Given the description of an element on the screen output the (x, y) to click on. 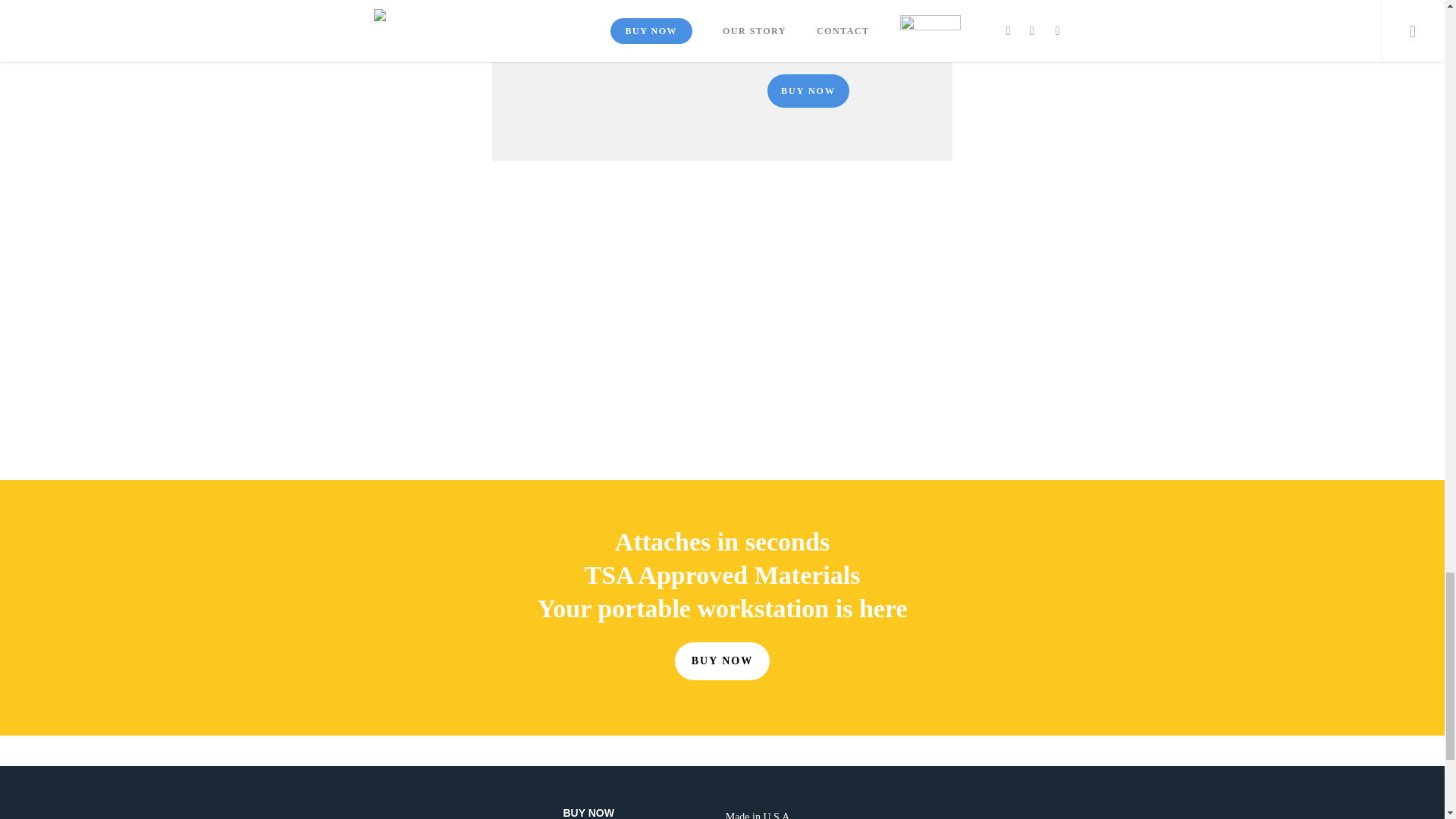
BUY NOW (640, 812)
BUY NOW (722, 661)
BUY NOW (807, 90)
